Given the description of an element on the screen output the (x, y) to click on. 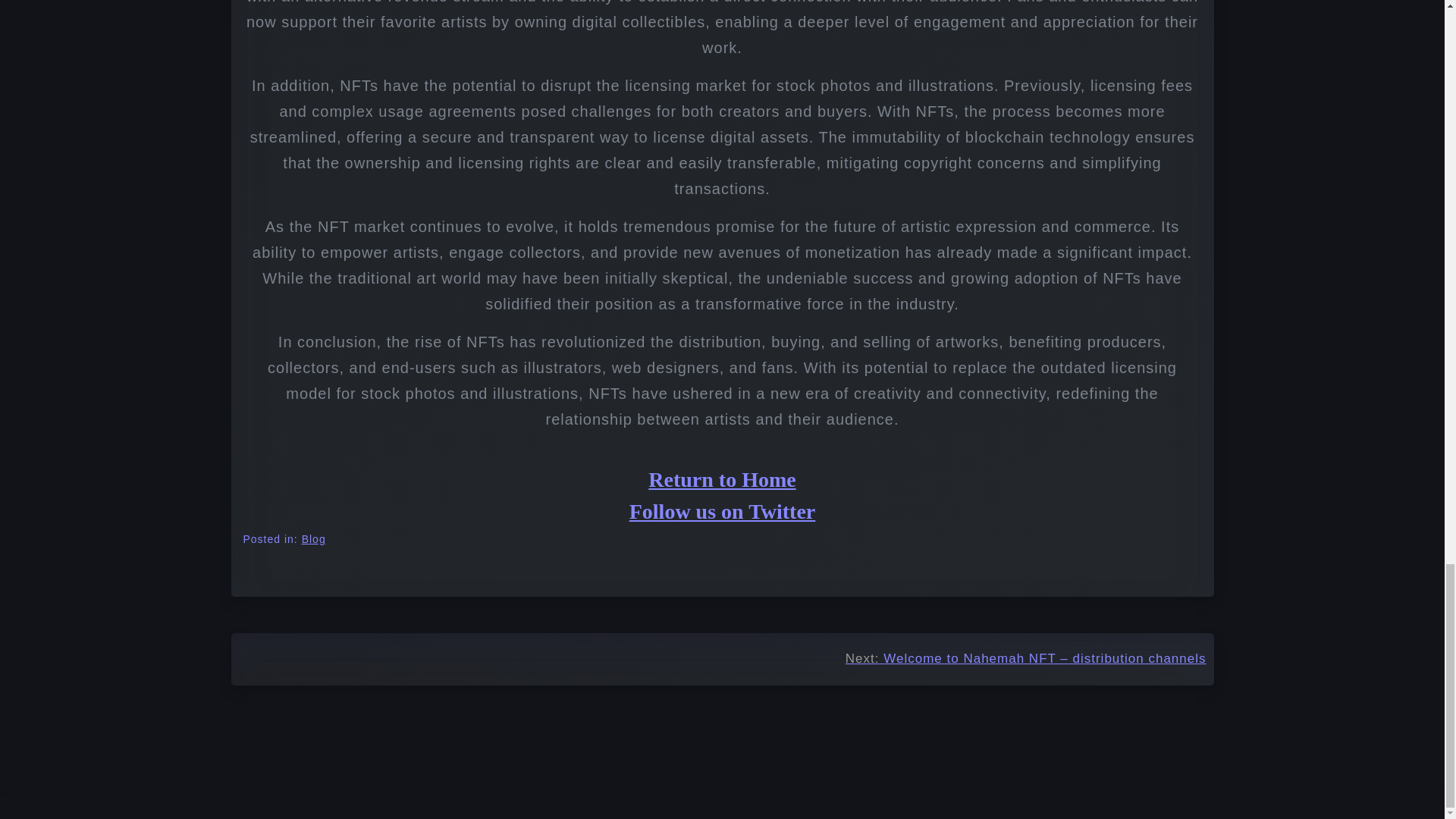
Return to Home (720, 479)
Blog (313, 539)
Follow us on Twitter (721, 511)
